Given the description of an element on the screen output the (x, y) to click on. 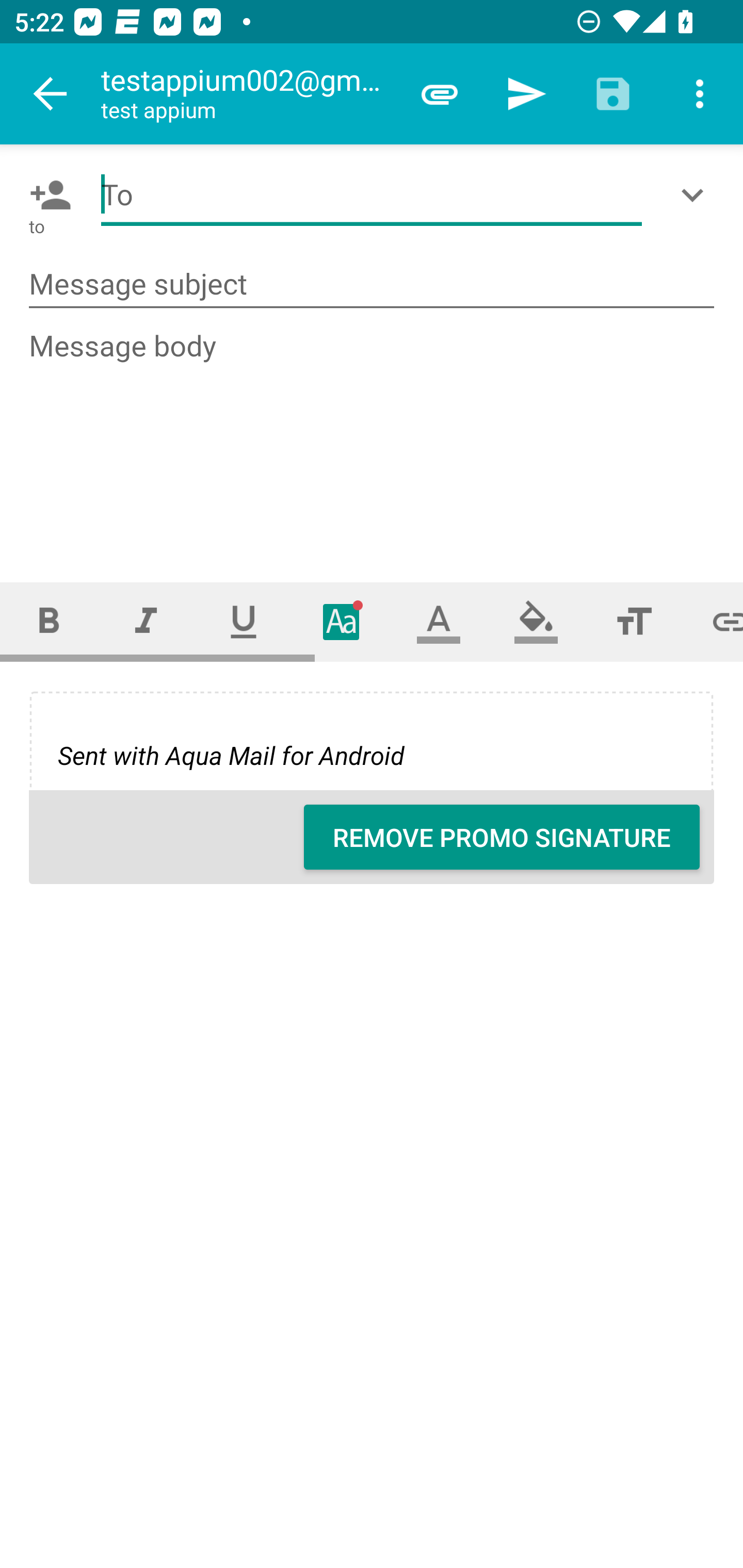
Navigate up (50, 93)
testappium002@gmail.com test appium (248, 93)
Attach (439, 93)
Send (525, 93)
Save (612, 93)
More options (699, 93)
Pick contact: To (46, 195)
Show/Add CC/BCC (696, 195)
To (371, 195)
Message subject (371, 284)
Bold (48, 621)
Italic (145, 621)
Underline (243, 621)
Typeface (font) (341, 621)
Text color (438, 621)
Fill color (536, 621)
Font size (633, 621)
Set link (712, 621)
REMOVE PROMO SIGNATURE (501, 837)
